Given the description of an element on the screen output the (x, y) to click on. 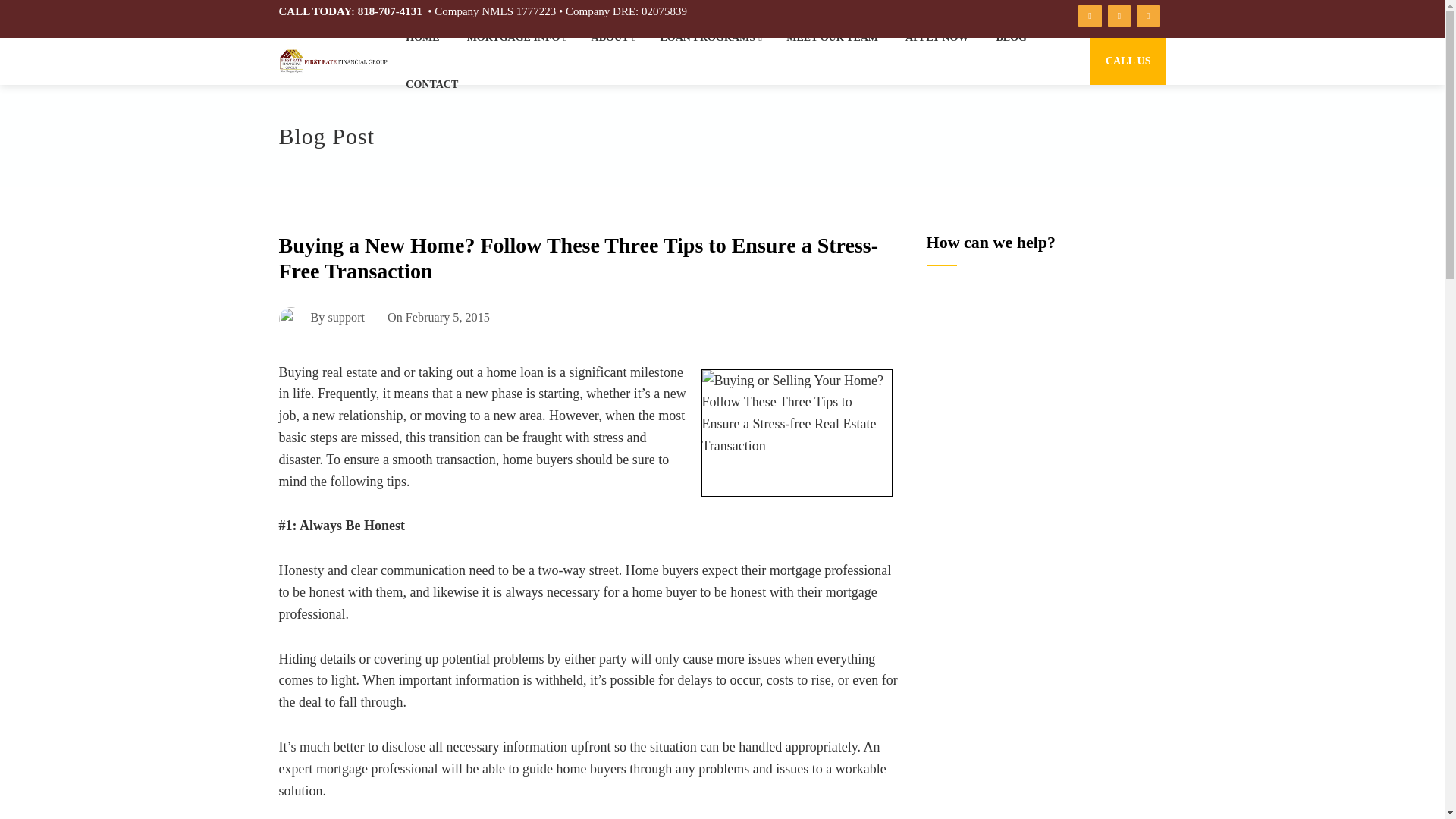
ABOUT (612, 37)
CONTACT (431, 84)
MEET OUR TEAM (831, 37)
Yelp (1089, 15)
HOME (421, 37)
MORTGAGE INFO (515, 37)
LOAN PROGRAMS (710, 37)
YouTube (1119, 15)
BLOG (1010, 37)
APPLY NOW (936, 37)
Facebook (1147, 15)
